Given the description of an element on the screen output the (x, y) to click on. 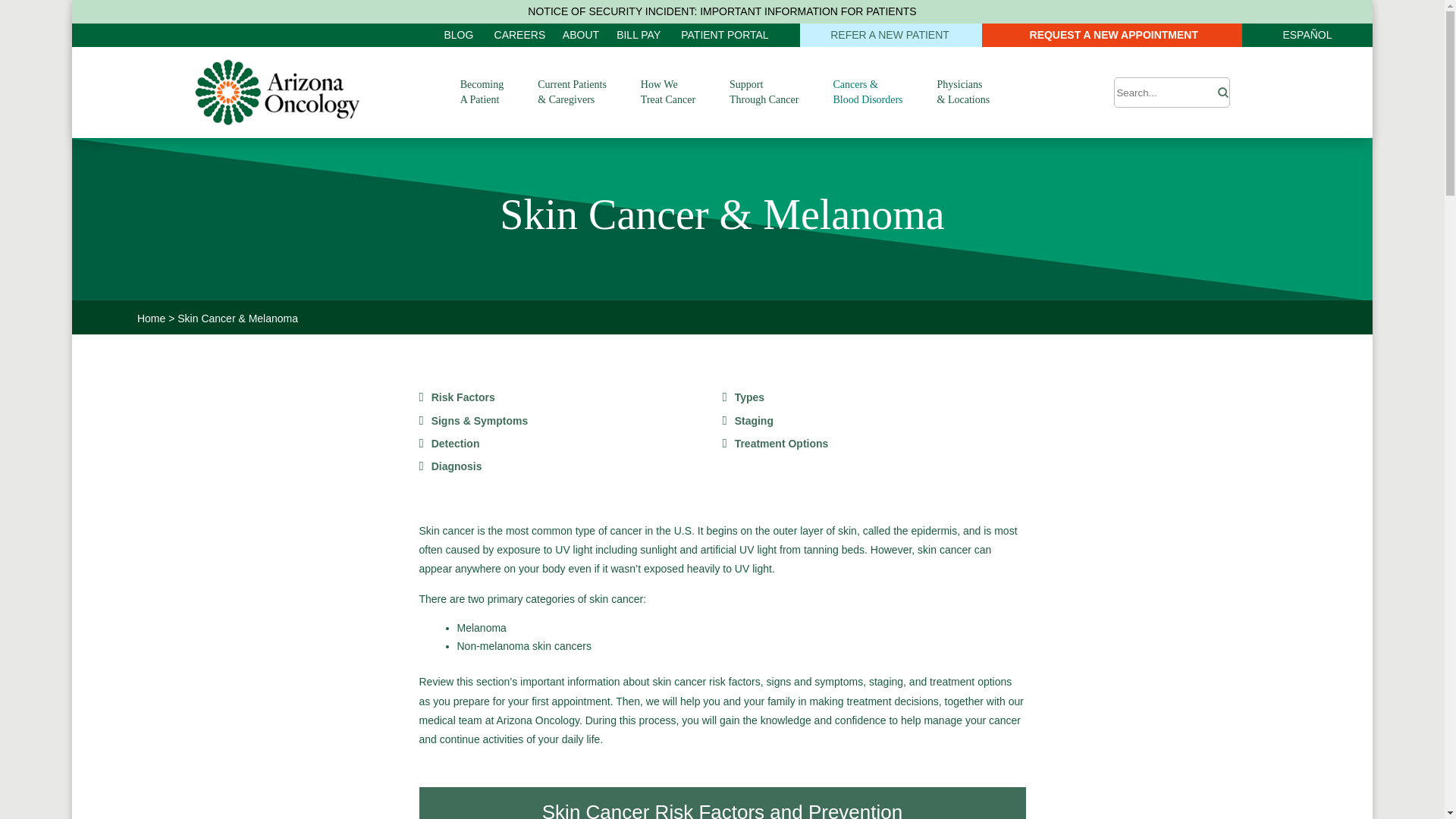
Arizona Oncology (277, 92)
PATIENT PORTAL (724, 34)
Bill PAY (638, 34)
CAREERS (520, 34)
BLOG  (460, 34)
ABOUT (580, 34)
CAREERS (520, 34)
REFER A NEW PATIENT  (890, 34)
 REQUEST A NEW APPOINTMENT (1112, 34)
PATIENT PORTAL (724, 34)
ABOUT (580, 34)
BILL PAY (638, 34)
